Given the description of an element on the screen output the (x, y) to click on. 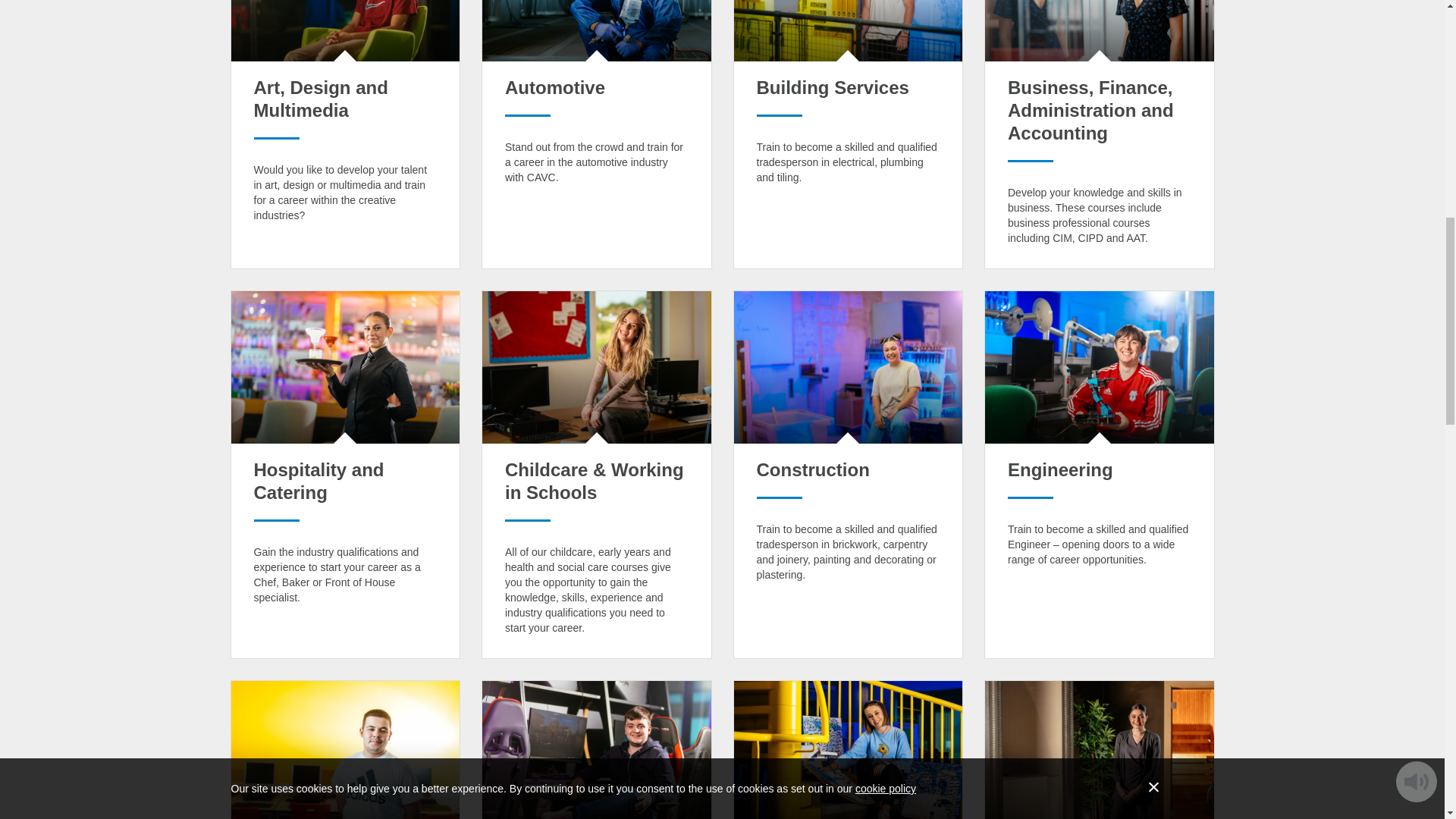
Hospitality and Catering (318, 480)
Automotive (555, 86)
Art, Design and Multimedia (320, 98)
Business, Finance, Administration and Accounting (1090, 109)
Building Services (832, 86)
